Given the description of an element on the screen output the (x, y) to click on. 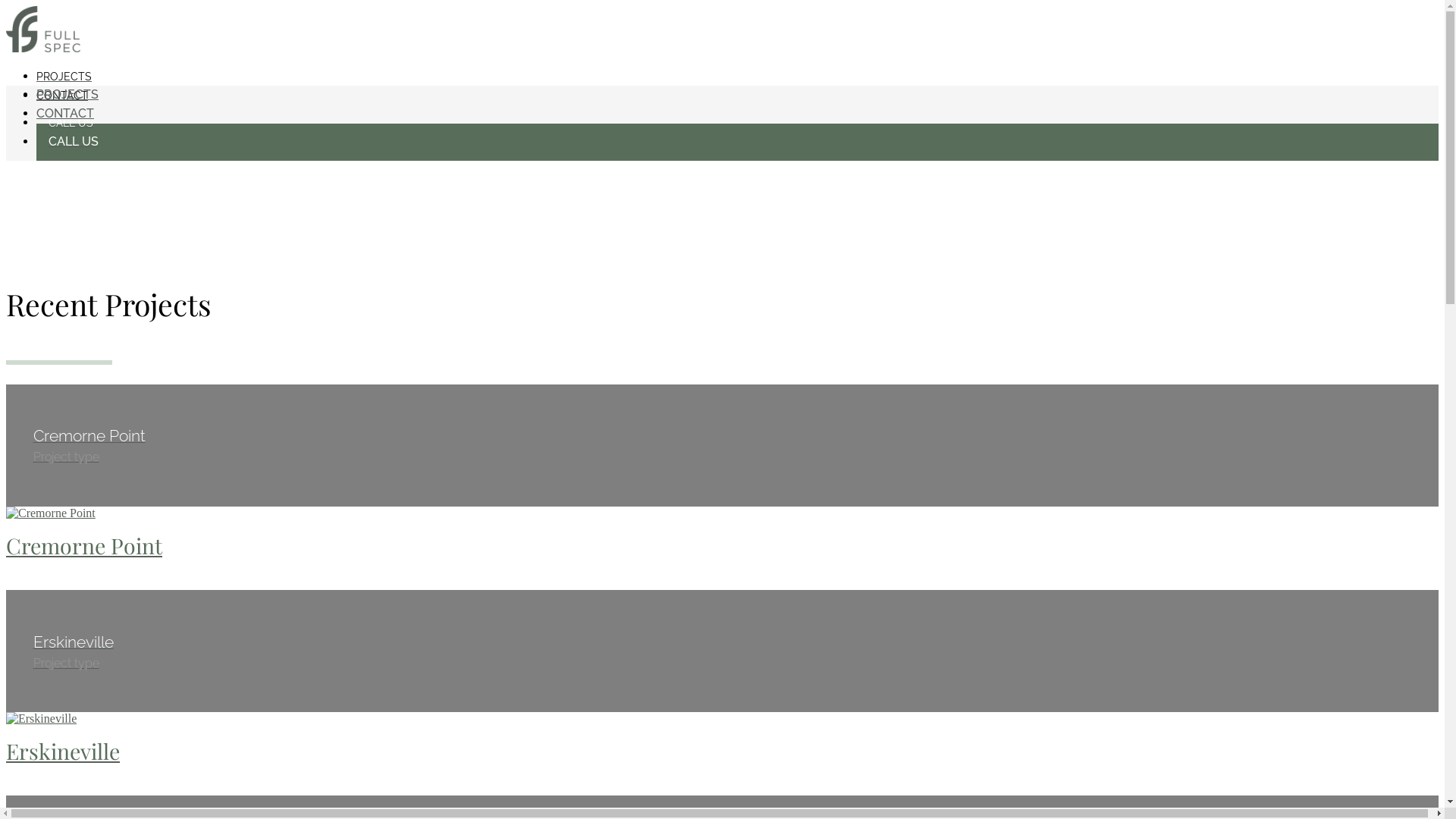
Cremorne Point Element type: text (722, 539)
Erskineville Element type: text (722, 745)
CONTACT Element type: text (65, 112)
Erskineville
Project type Element type: text (722, 657)
PROJECTS Element type: text (63, 76)
PROJECTS Element type: text (67, 94)
CALL US Element type: text (737, 141)
Cremorne Point
Project type Element type: text (722, 452)
Full Spec Australia - Residential construction services Element type: hover (43, 47)
CONTACT Element type: text (61, 94)
CALL US Element type: text (737, 121)
